Given the description of an element on the screen output the (x, y) to click on. 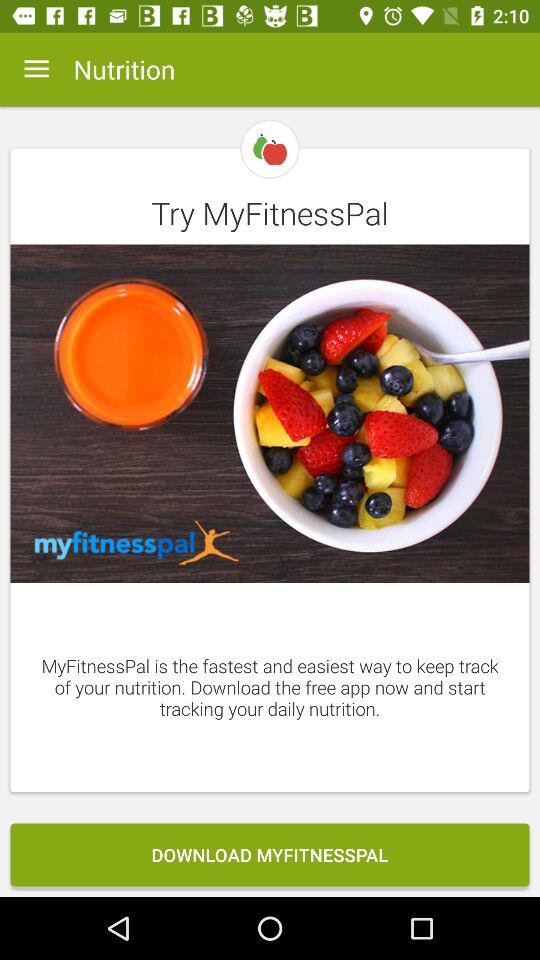
click the item to the left of nutrition (36, 69)
